Given the description of an element on the screen output the (x, y) to click on. 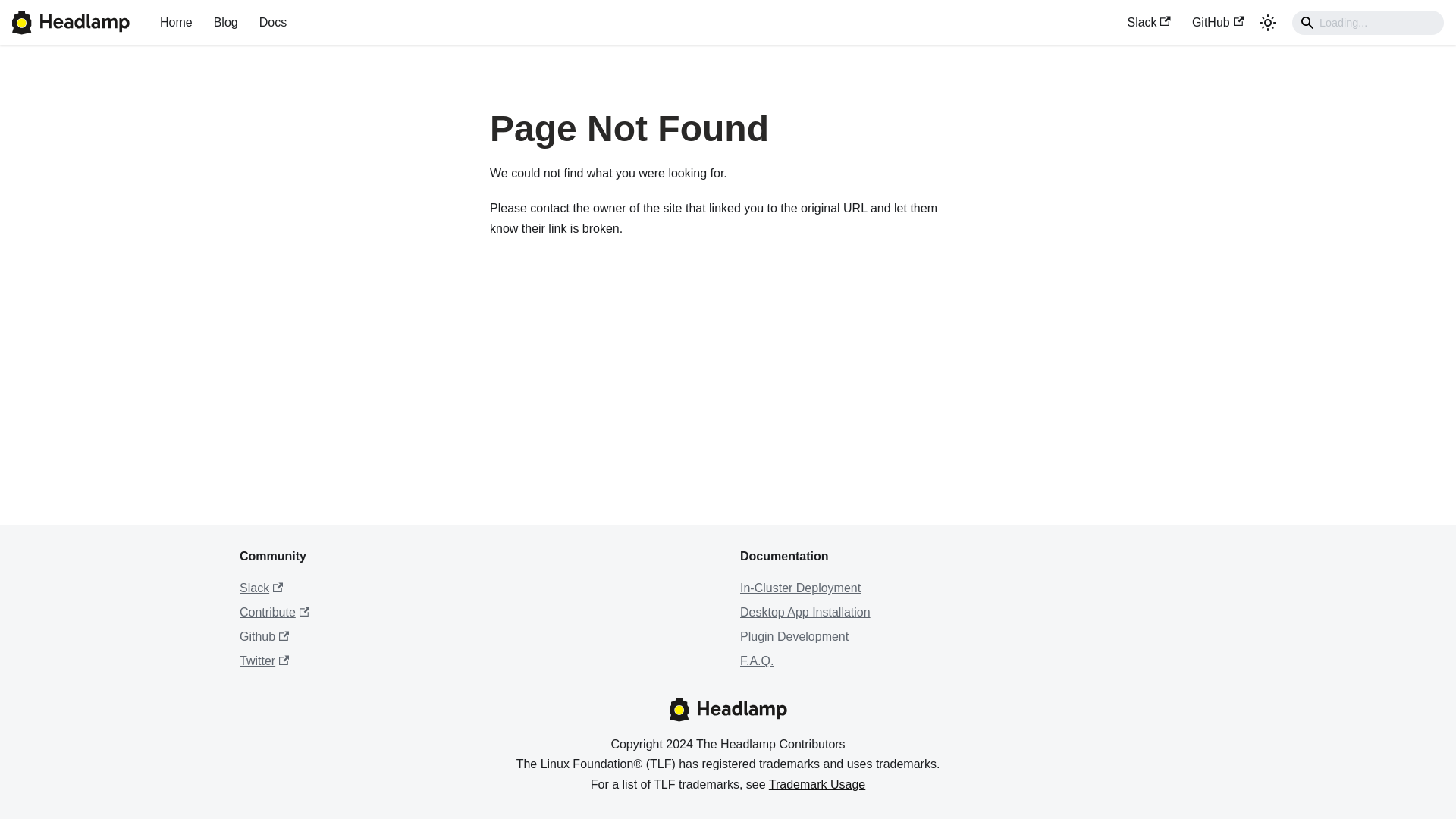
Desktop App Installation (804, 612)
GitHub (1217, 22)
Slack (261, 587)
Plugin Development (793, 635)
Contribute (274, 612)
Github (264, 635)
Slack (1148, 22)
Trademark Usage (816, 784)
Blog (226, 22)
Twitter (264, 660)
